Given the description of an element on the screen output the (x, y) to click on. 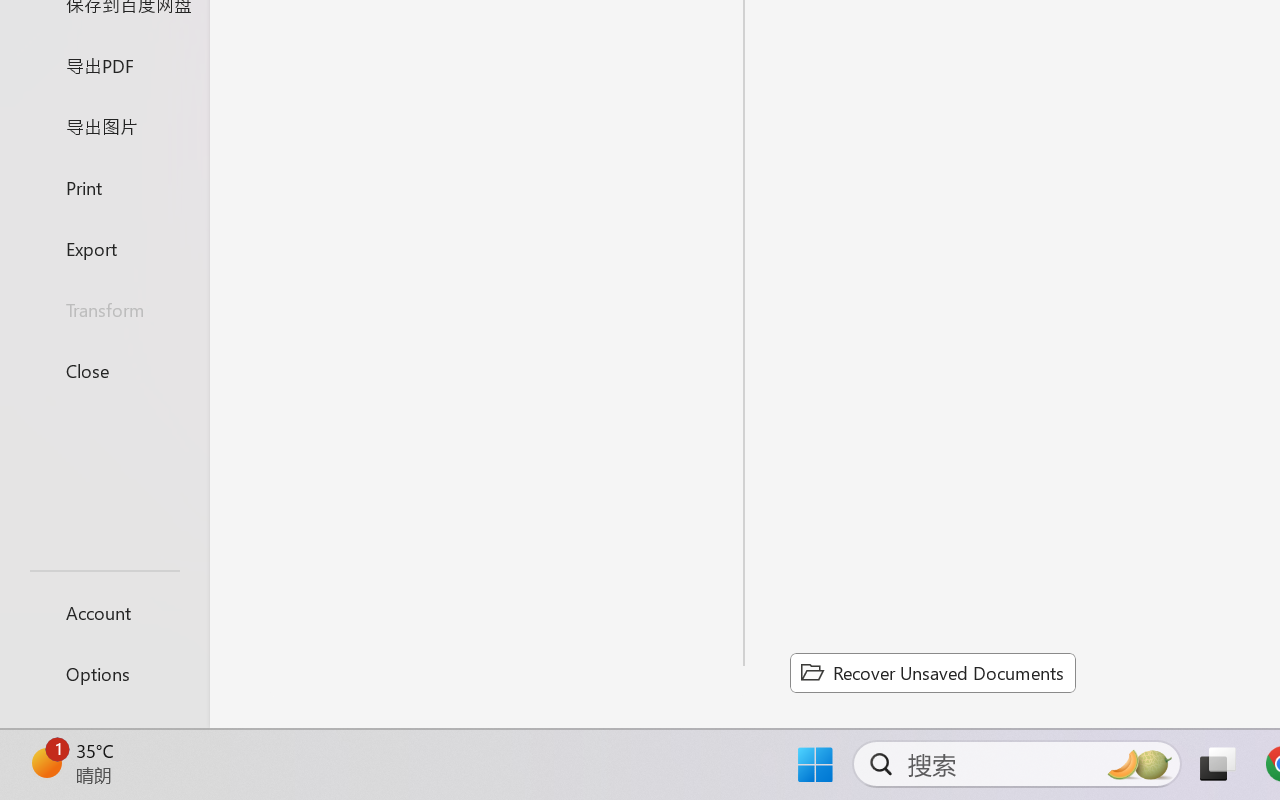
Print (104, 186)
Recover Unsaved Documents (932, 672)
Options (104, 673)
Transform (104, 309)
Account (104, 612)
Export (104, 248)
